Given the description of an element on the screen output the (x, y) to click on. 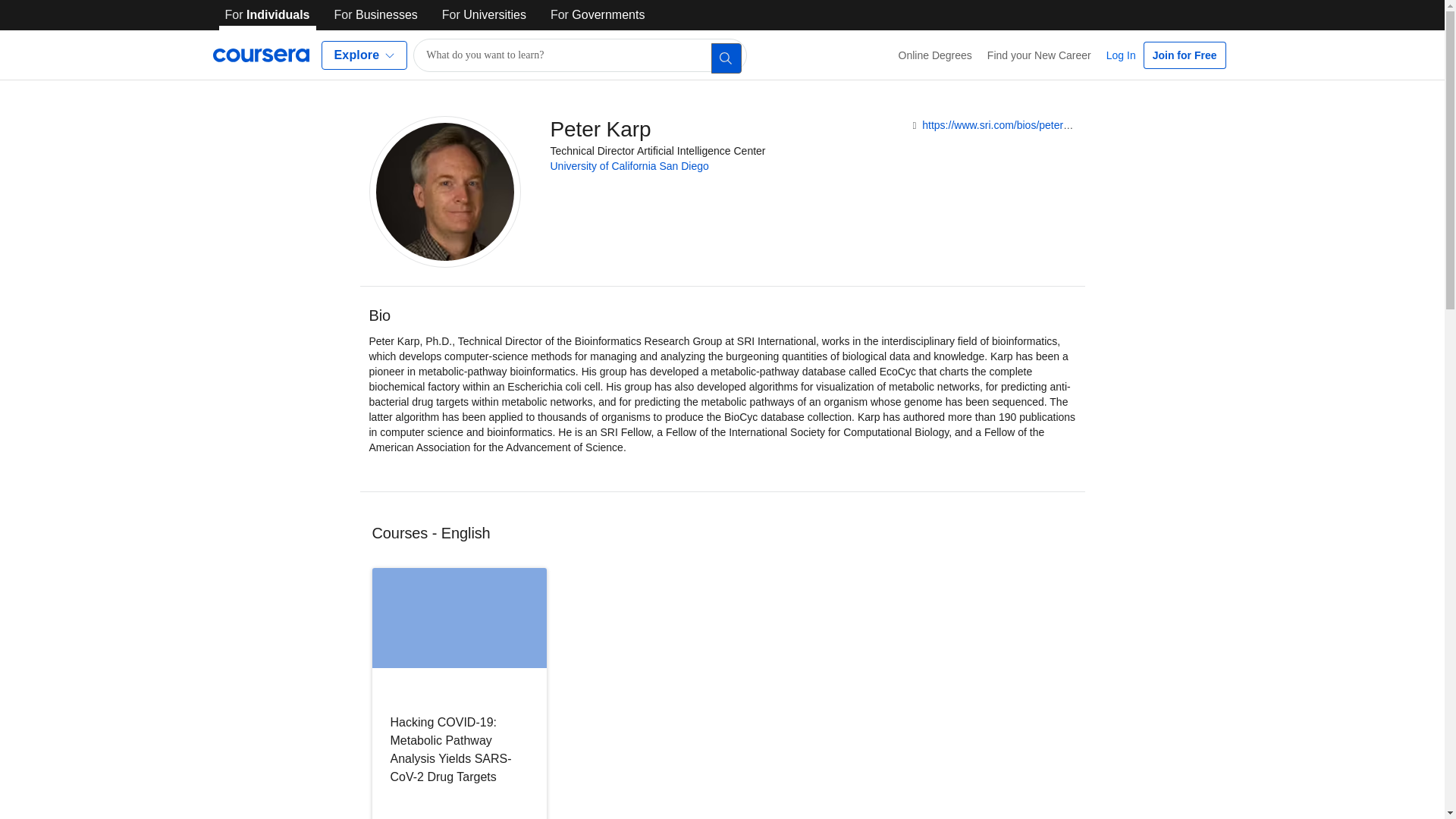
Log In (1120, 54)
Join for Free (1183, 53)
For Universities (483, 15)
For Governments (597, 15)
University of California San Diego (629, 165)
Explore (364, 54)
For Businesses (376, 15)
For Individuals (266, 15)
Online Degrees (935, 54)
Find your New Career (1039, 54)
